Given the description of an element on the screen output the (x, y) to click on. 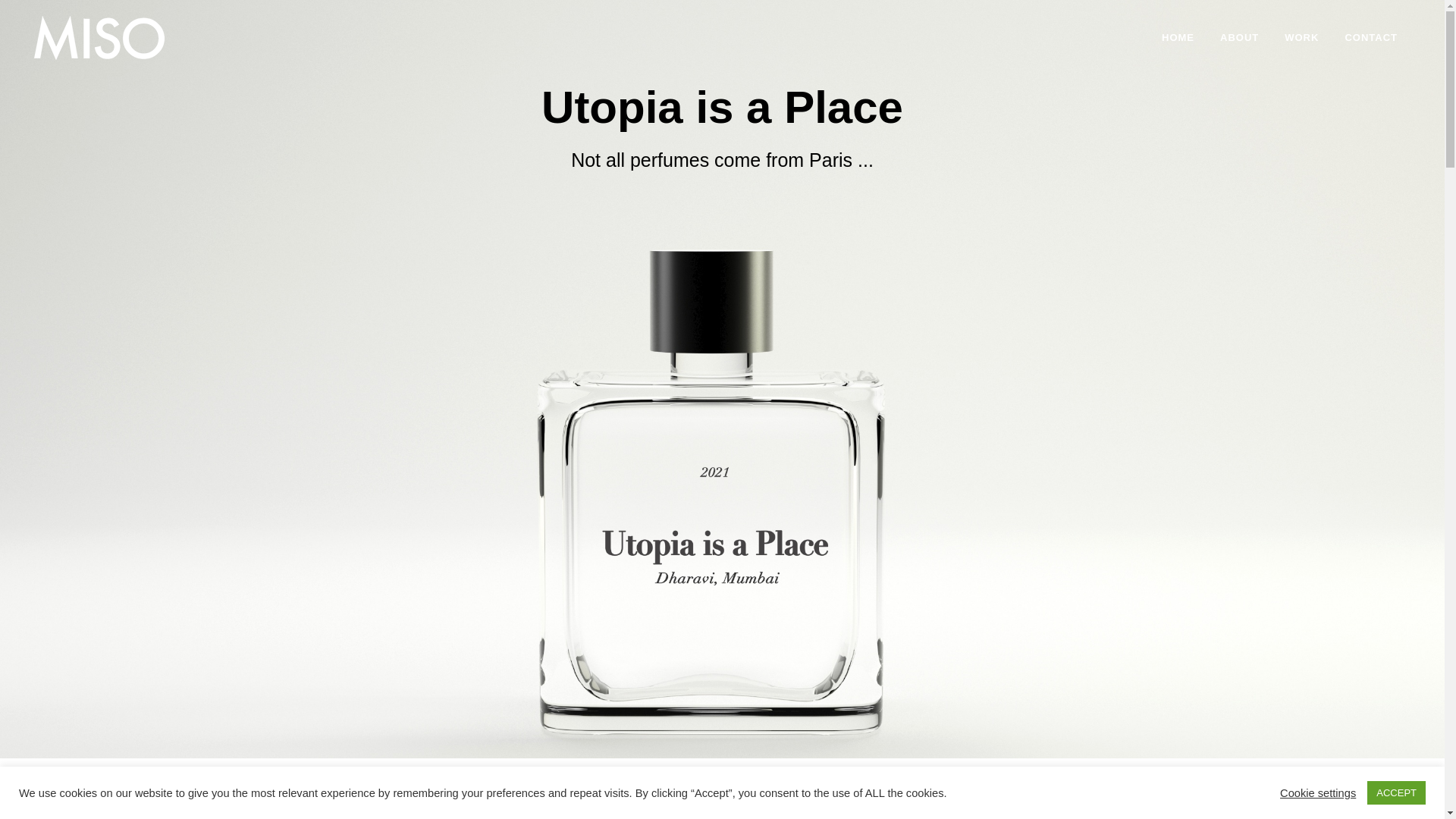
Cookie settings (1317, 792)
CONTACT (1371, 38)
Contact (1371, 38)
ACCEPT (1396, 792)
